Given the description of an element on the screen output the (x, y) to click on. 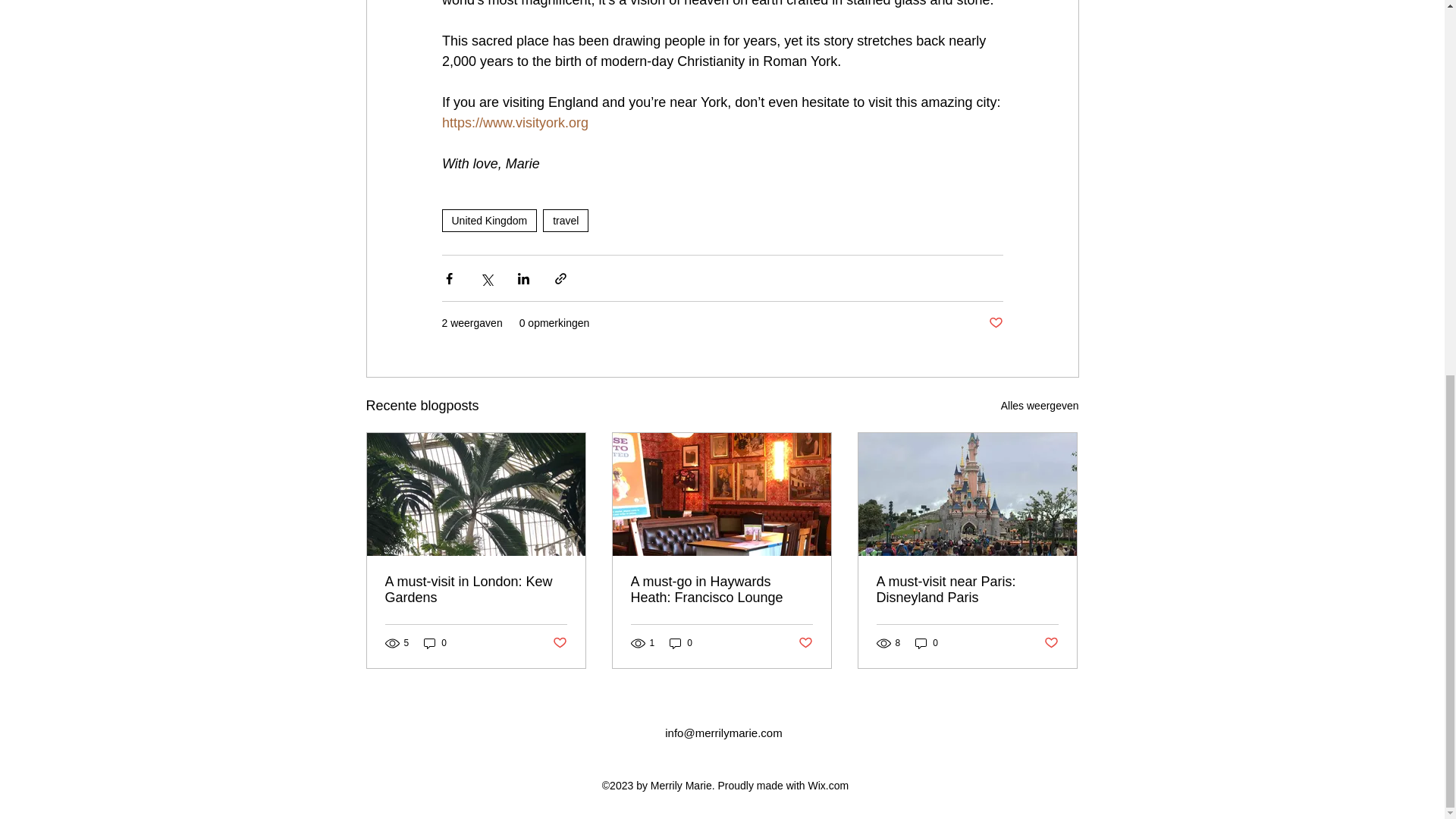
United Kingdom (489, 220)
Post is niet als leuk gemarkeerd (558, 642)
0 (926, 643)
Post is niet als leuk gemarkeerd (995, 323)
0 (435, 643)
A must-visit in London: Kew Gardens (476, 590)
Post is niet als leuk gemarkeerd (1050, 642)
A must-visit near Paris: Disneyland Paris (967, 590)
travel (565, 220)
A must-go in Haywards Heath: Francisco Lounge (721, 590)
